Given the description of an element on the screen output the (x, y) to click on. 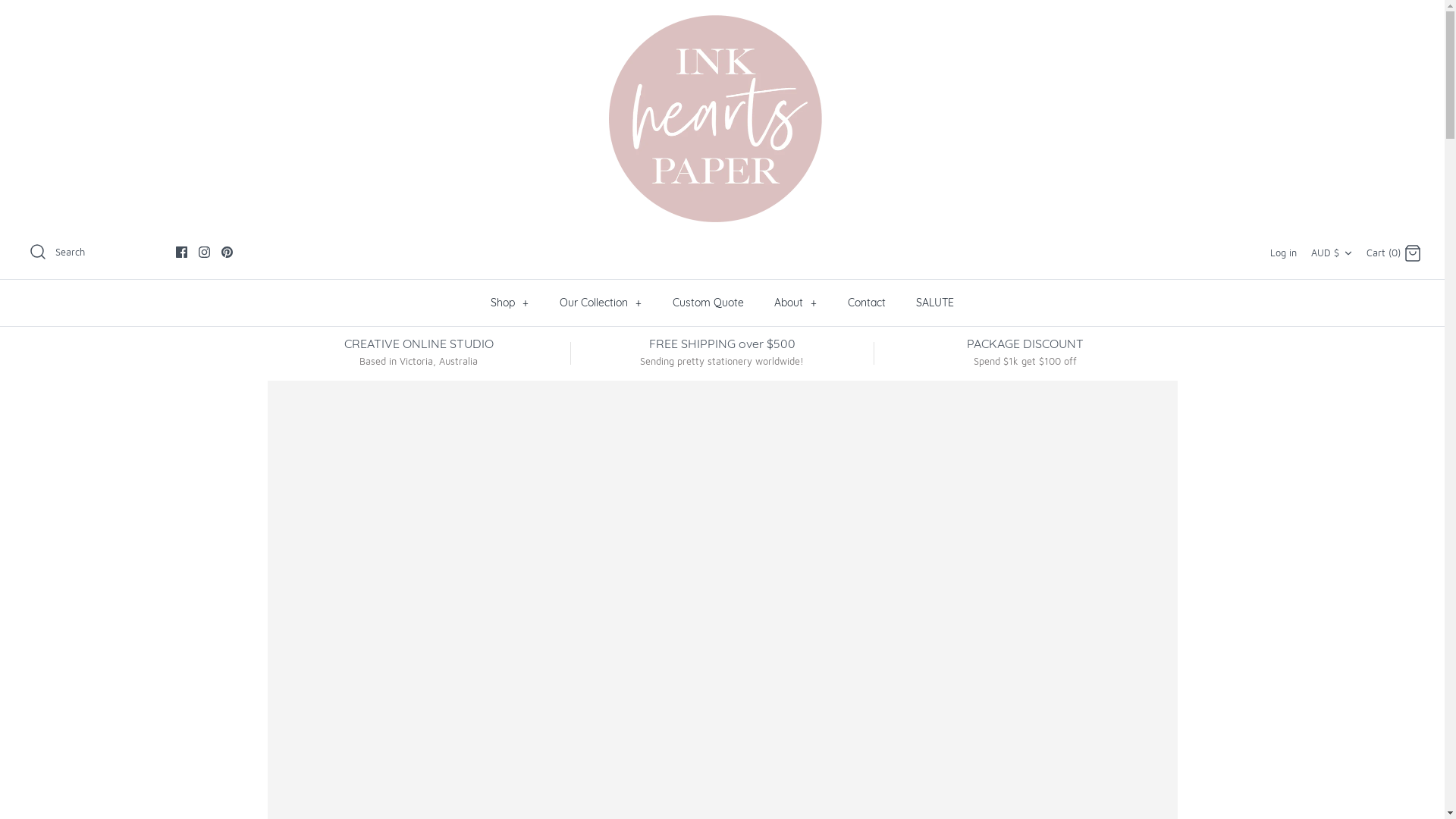
Our Collection + Element type: text (600, 302)
Shop + Element type: text (509, 302)
Instagram Element type: text (204, 251)
Cart (0) Cart Element type: text (1393, 251)
Pinterest Element type: text (226, 251)
Facebook Element type: text (181, 251)
SALUTE Element type: text (934, 302)
Contact Element type: text (866, 302)
Log in Element type: text (1283, 252)
About + Element type: text (795, 302)
PACKAGE DISCOUNT
Spend $1k get $100 off Element type: text (1024, 351)
Ink Hearts Paper Element type: hover (721, 118)
Custom Quote Element type: text (707, 302)
AUD $
Down Element type: text (1333, 253)
